Given the description of an element on the screen output the (x, y) to click on. 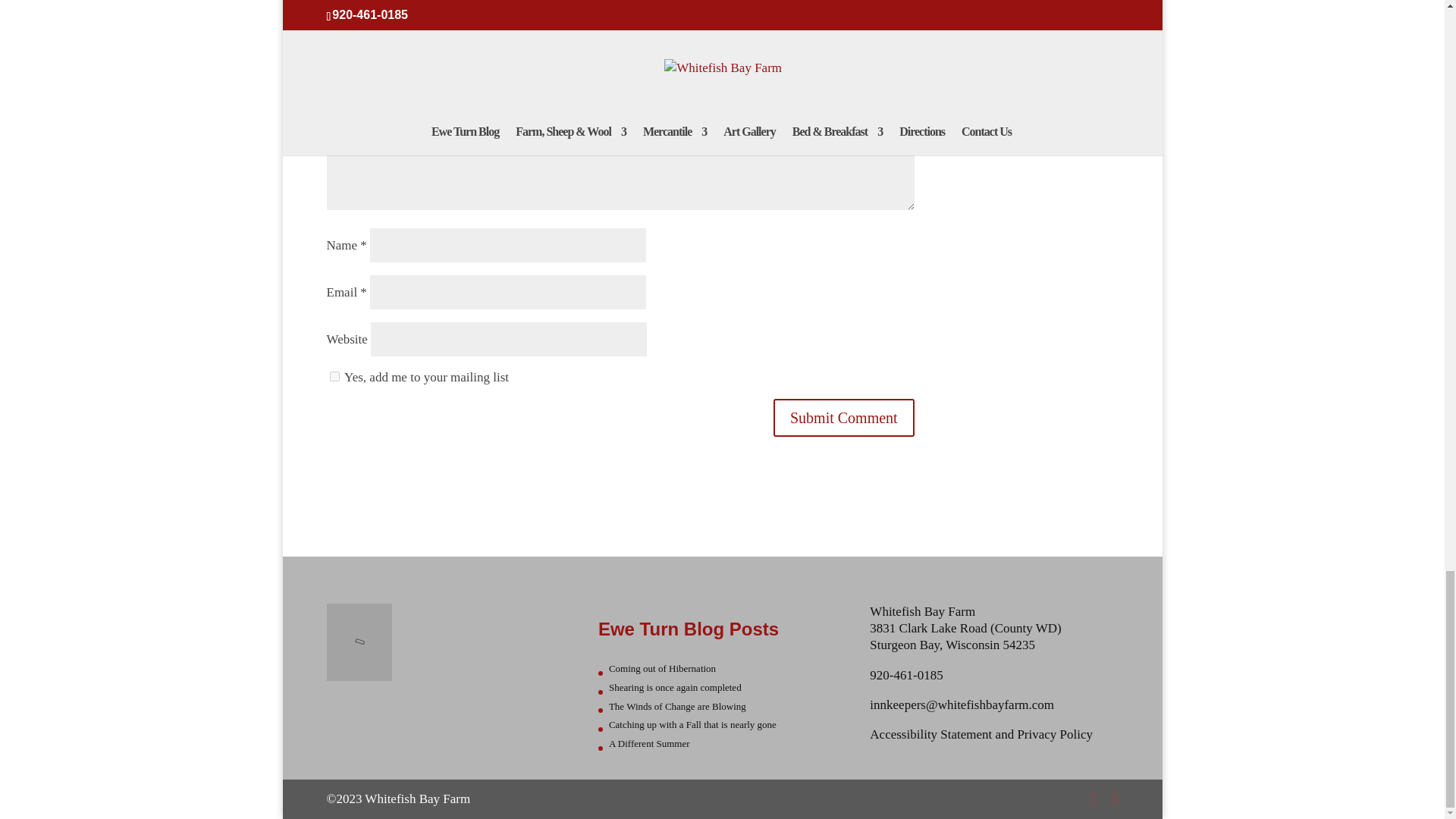
Coming out of Hibernation (662, 668)
Submit Comment (843, 417)
Submit Comment (843, 417)
1 (334, 376)
